Given the description of an element on the screen output the (x, y) to click on. 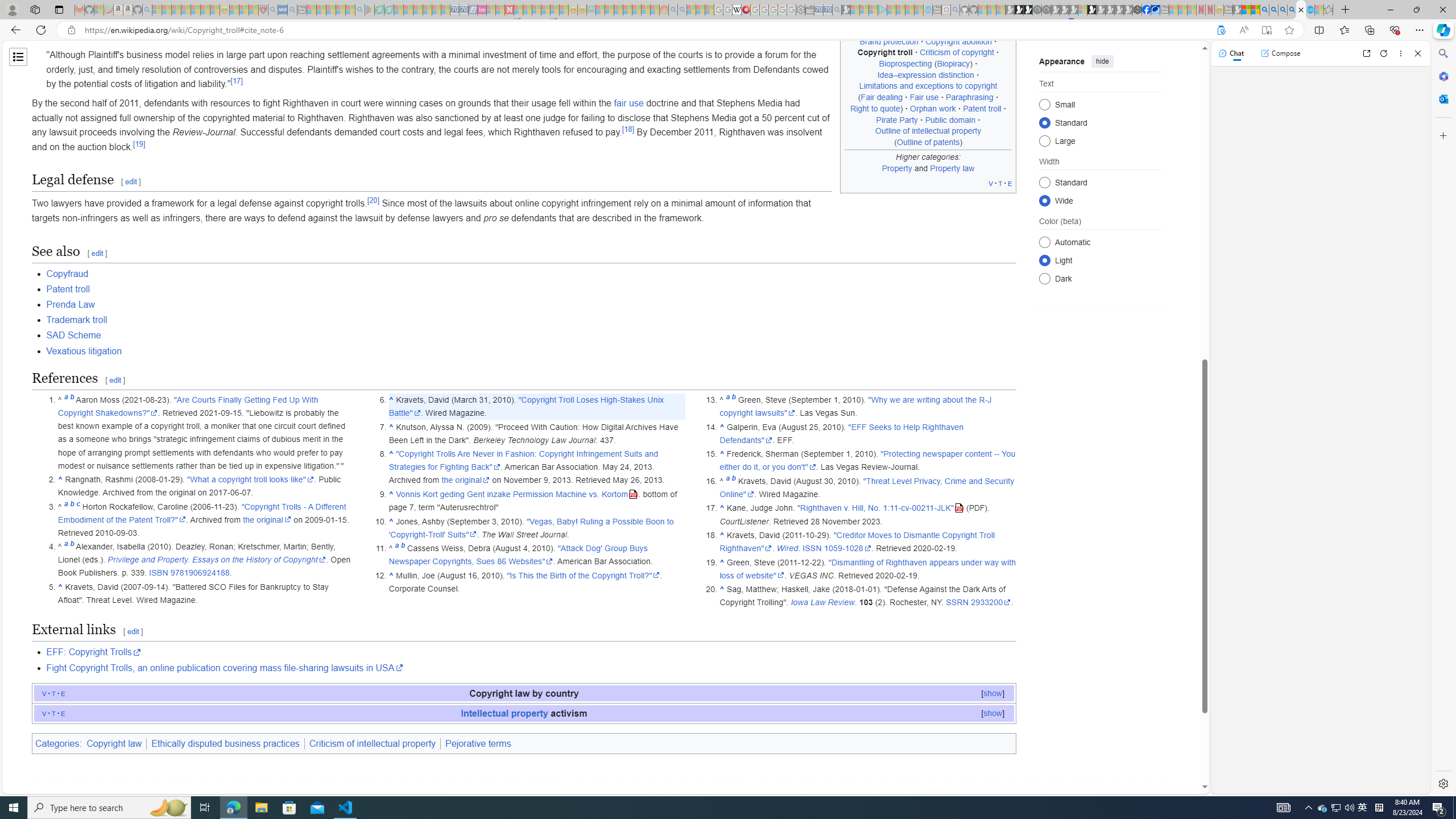
Services - Maintenance | Sky Blue Bikes - Sky Blue Bikes (1309, 9)
"Creditor Moves to Dismantle Copyright Troll Righthaven" (857, 541)
Close (1417, 53)
DITOGAMES AG Imprint - Sleeping (590, 9)
Paraphrasing (969, 97)
Minimize (1390, 9)
fair use (627, 103)
Automatic (1044, 241)
